Given the description of an element on the screen output the (x, y) to click on. 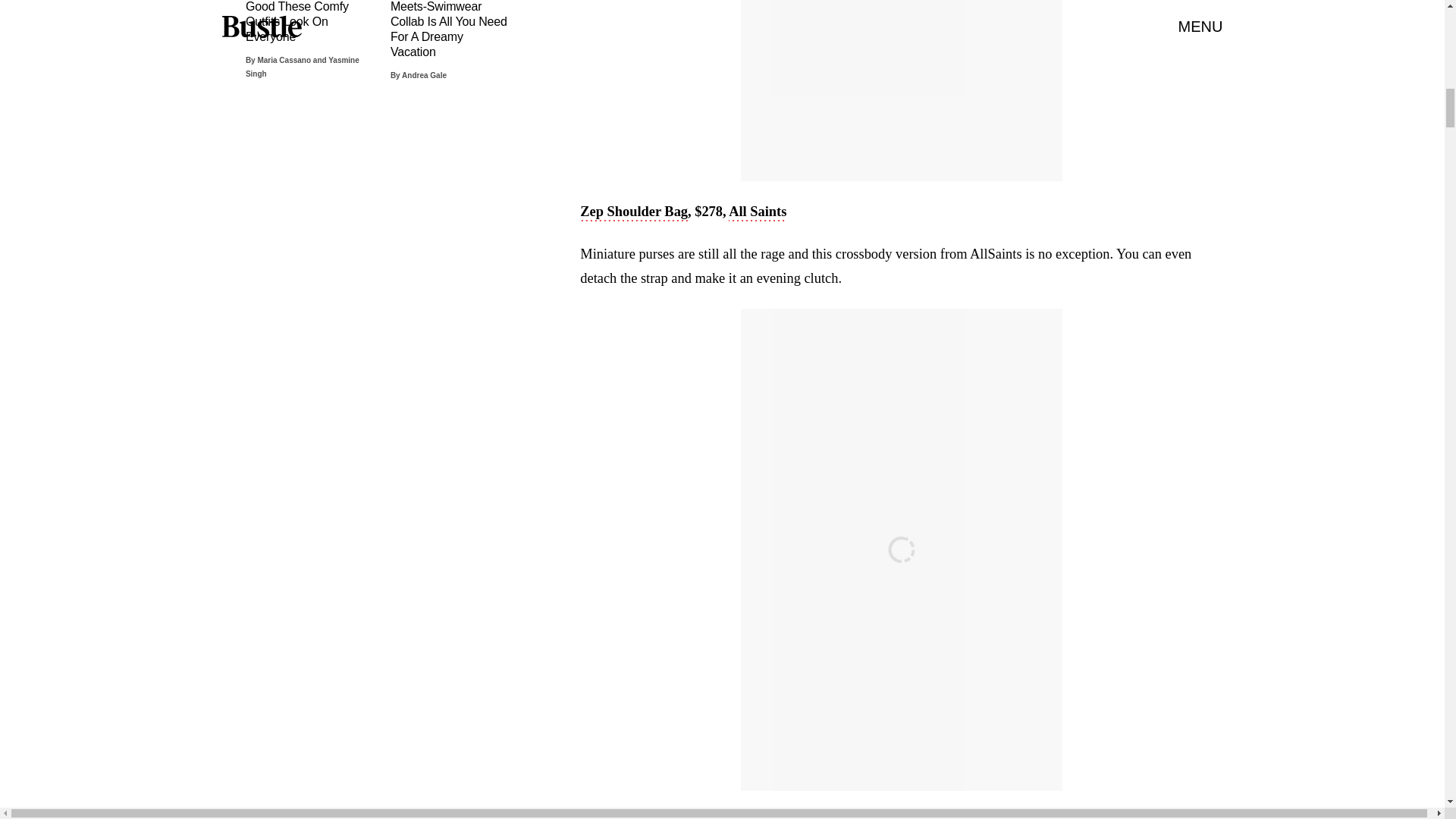
All Saints (757, 212)
Forever 21 (828, 816)
Mini Envelope Crossbody Bag (669, 816)
Zep Shoulder Bag (633, 212)
